Given the description of an element on the screen output the (x, y) to click on. 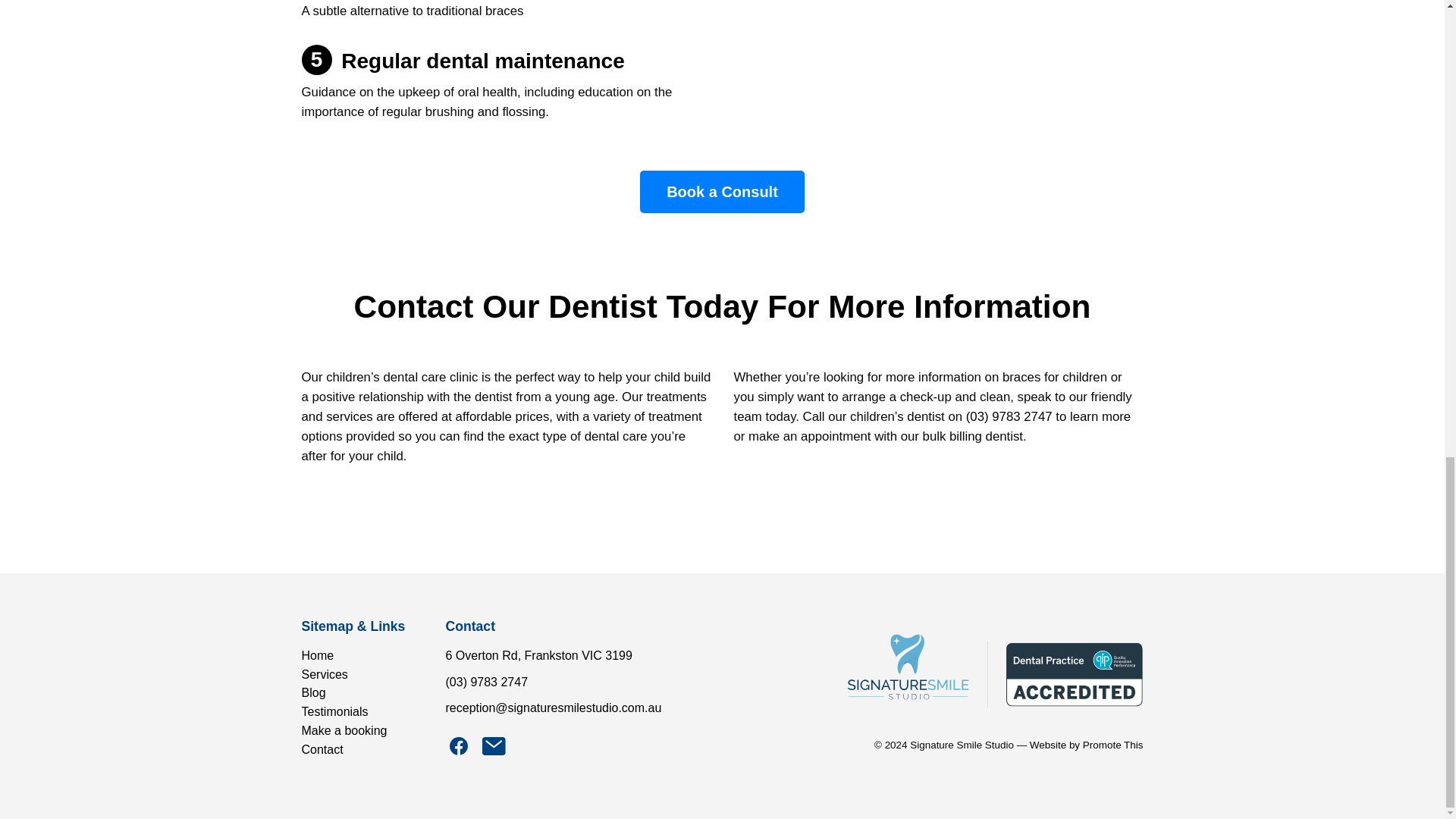
Testimonials (334, 711)
Book a Consult (722, 191)
Blog (313, 692)
Website by Promote This (1085, 745)
Contact (322, 748)
Services (324, 673)
Home (317, 655)
Make a booking (344, 730)
6 Overton Rd, Frankston VIC 3199 (538, 655)
